Given the description of an element on the screen output the (x, y) to click on. 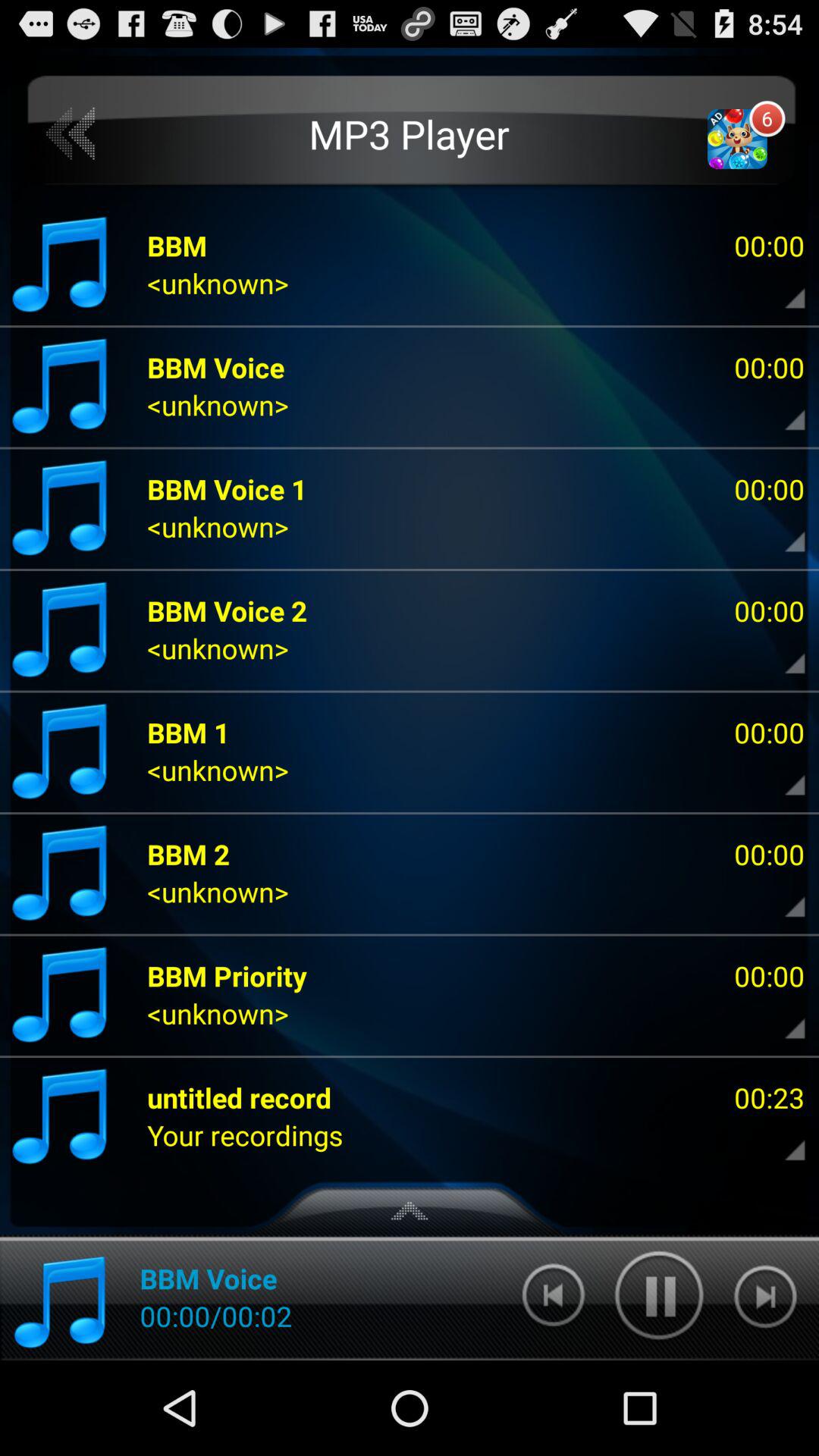
turn on item below <unknown> icon (239, 1097)
